Given the description of an element on the screen output the (x, y) to click on. 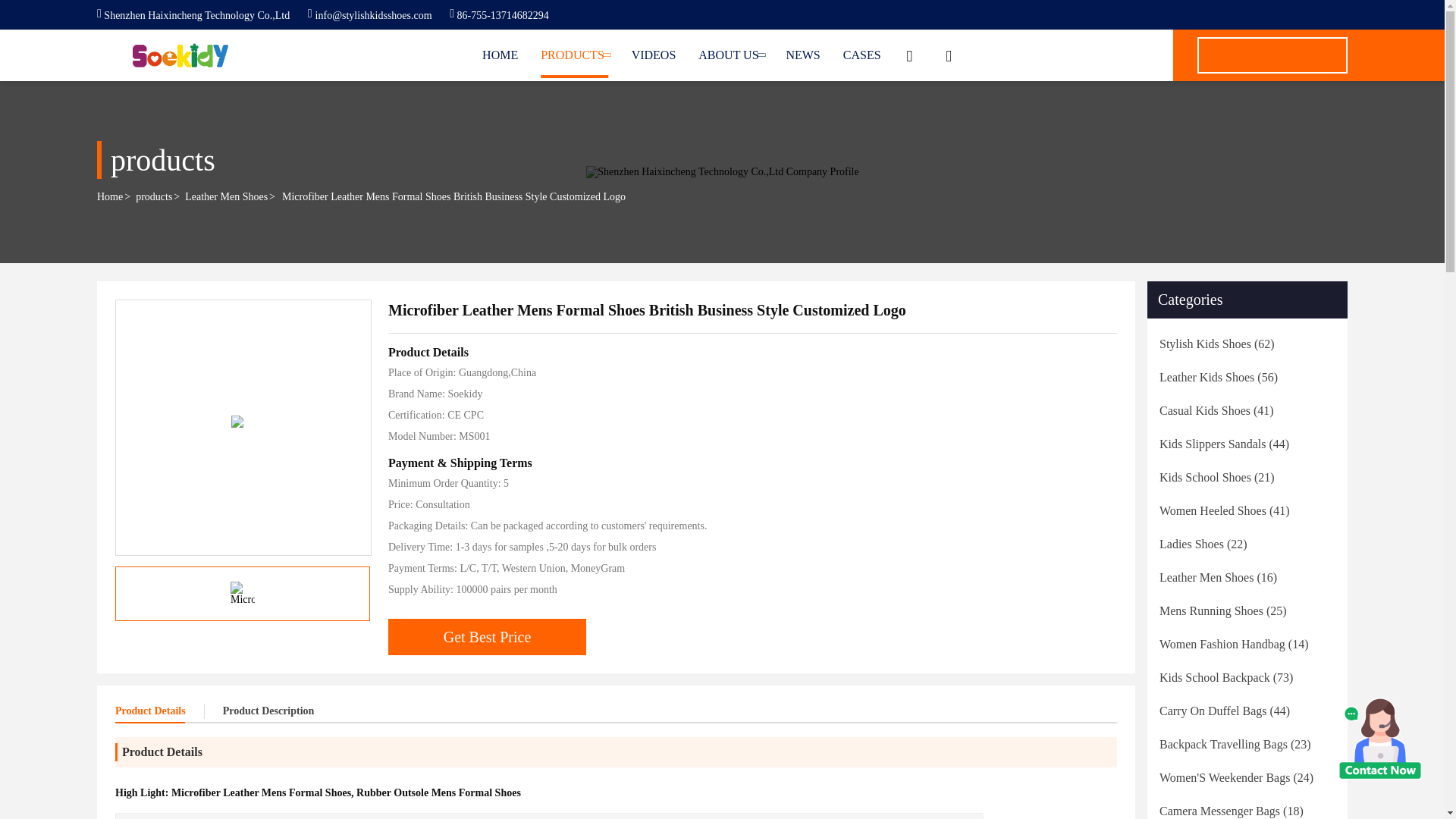
HOME (499, 55)
ABOUT US (730, 55)
Home (499, 55)
PRODUCTS (574, 55)
VIDEOS (654, 55)
CASES (861, 55)
Products (574, 55)
86-755-13714682294 (498, 15)
NEWS (802, 55)
